Given the description of an element on the screen output the (x, y) to click on. 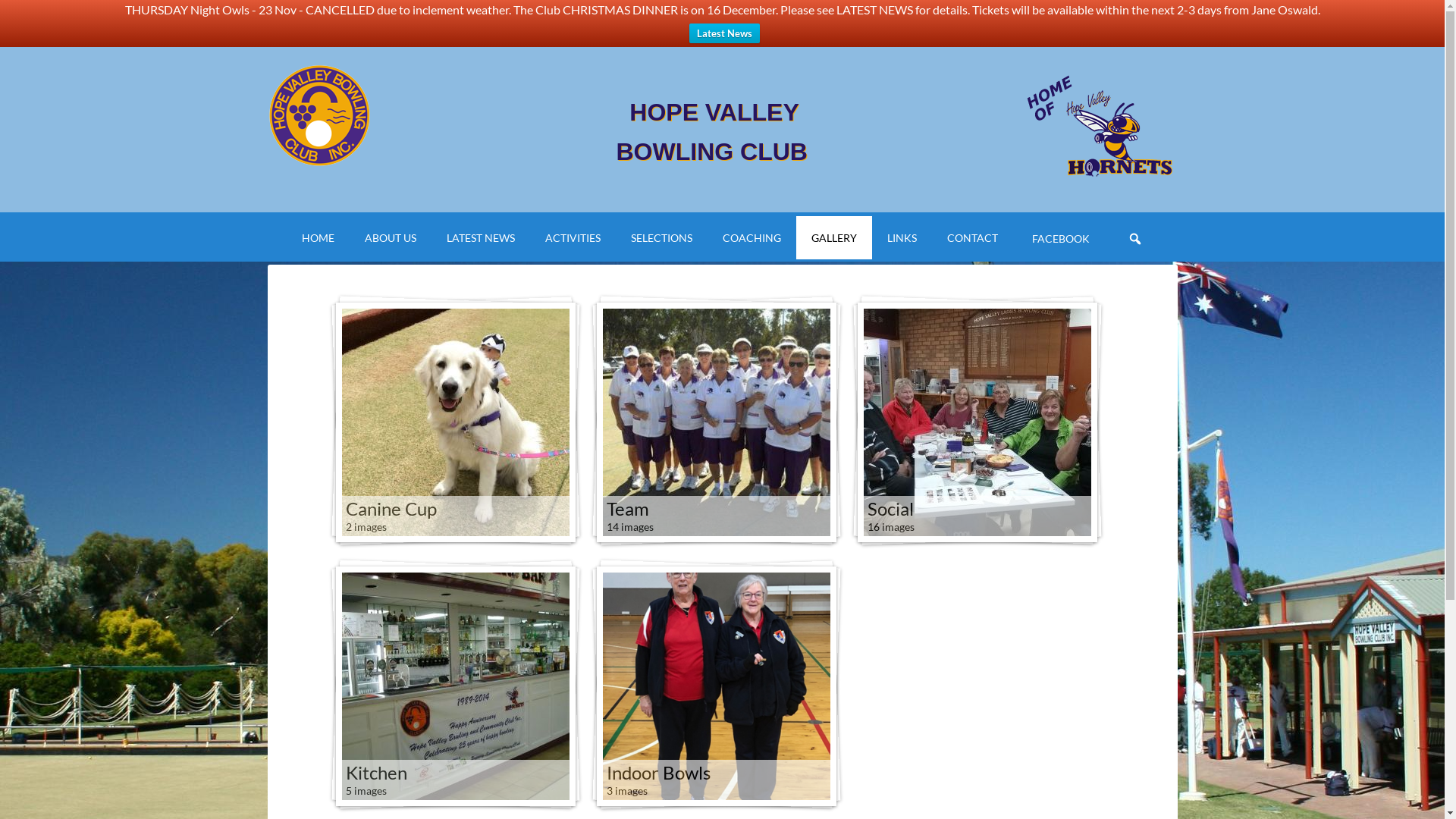
GALLERY Element type: text (834, 237)
ACTIVITIES Element type: text (572, 237)
Social
16 images Element type: text (976, 422)
FACEBOOK Element type: text (1058, 237)
Search Element type: text (1157, 226)
ABOUT US Element type: text (390, 237)
Indoor Bowls
3 images Element type: text (715, 686)
Kitchen
5 images Element type: text (454, 686)
Canine Cup
2 images Element type: text (454, 422)
Team
14 images Element type: text (715, 422)
COACHING Element type: text (751, 237)
Latest News Element type: text (723, 33)
LINKS Element type: text (901, 237)
HOME Element type: text (317, 237)
HOPE VALLEY BOWLING AND COMMUNITY CLUB Element type: text (395, 115)
LATEST NEWS Element type: text (480, 237)
CONTACT Element type: text (972, 237)
SELECTIONS Element type: text (661, 237)
